Given the description of an element on the screen output the (x, y) to click on. 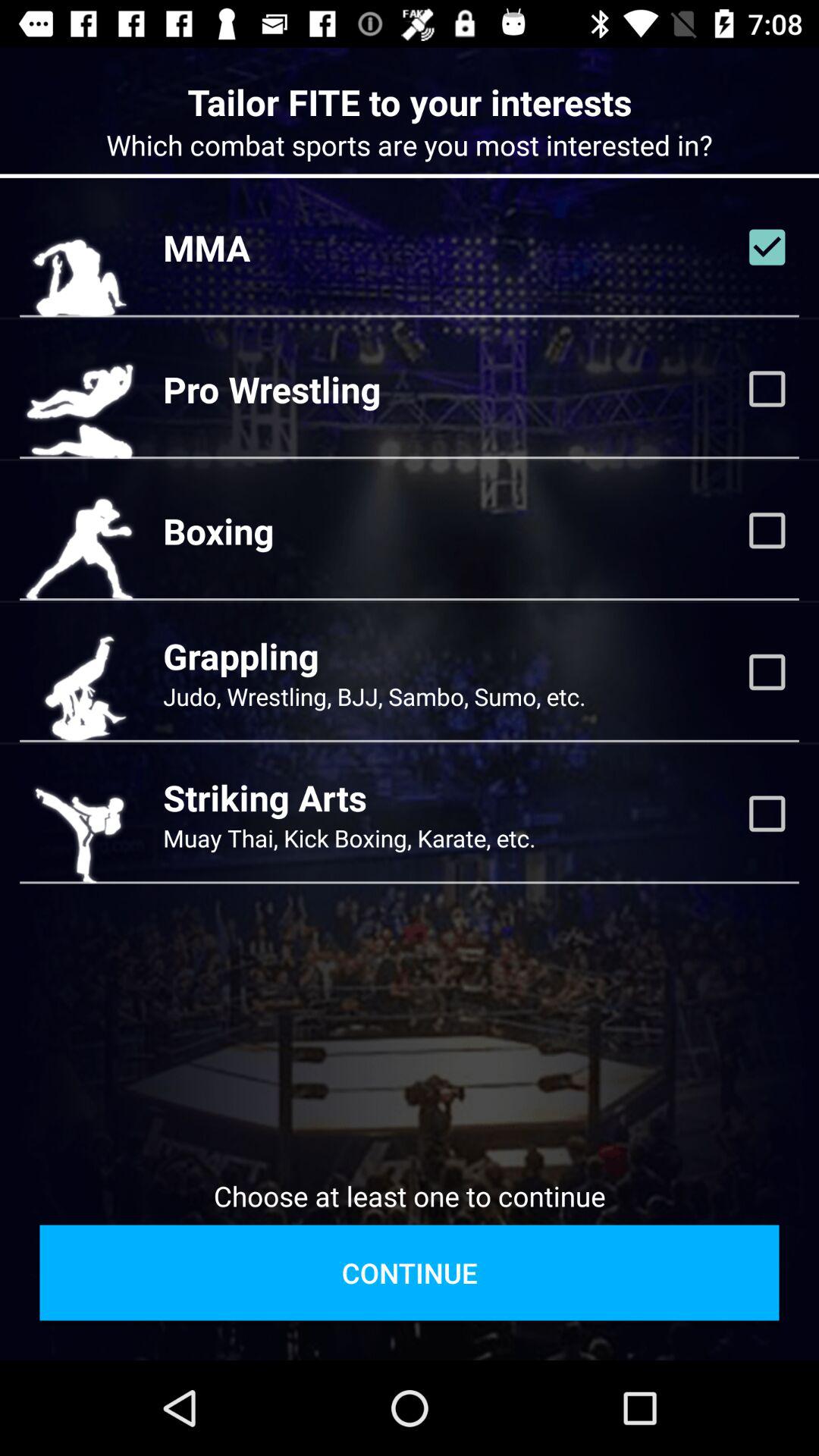
select the pro wrestling (272, 389)
